Given the description of an element on the screen output the (x, y) to click on. 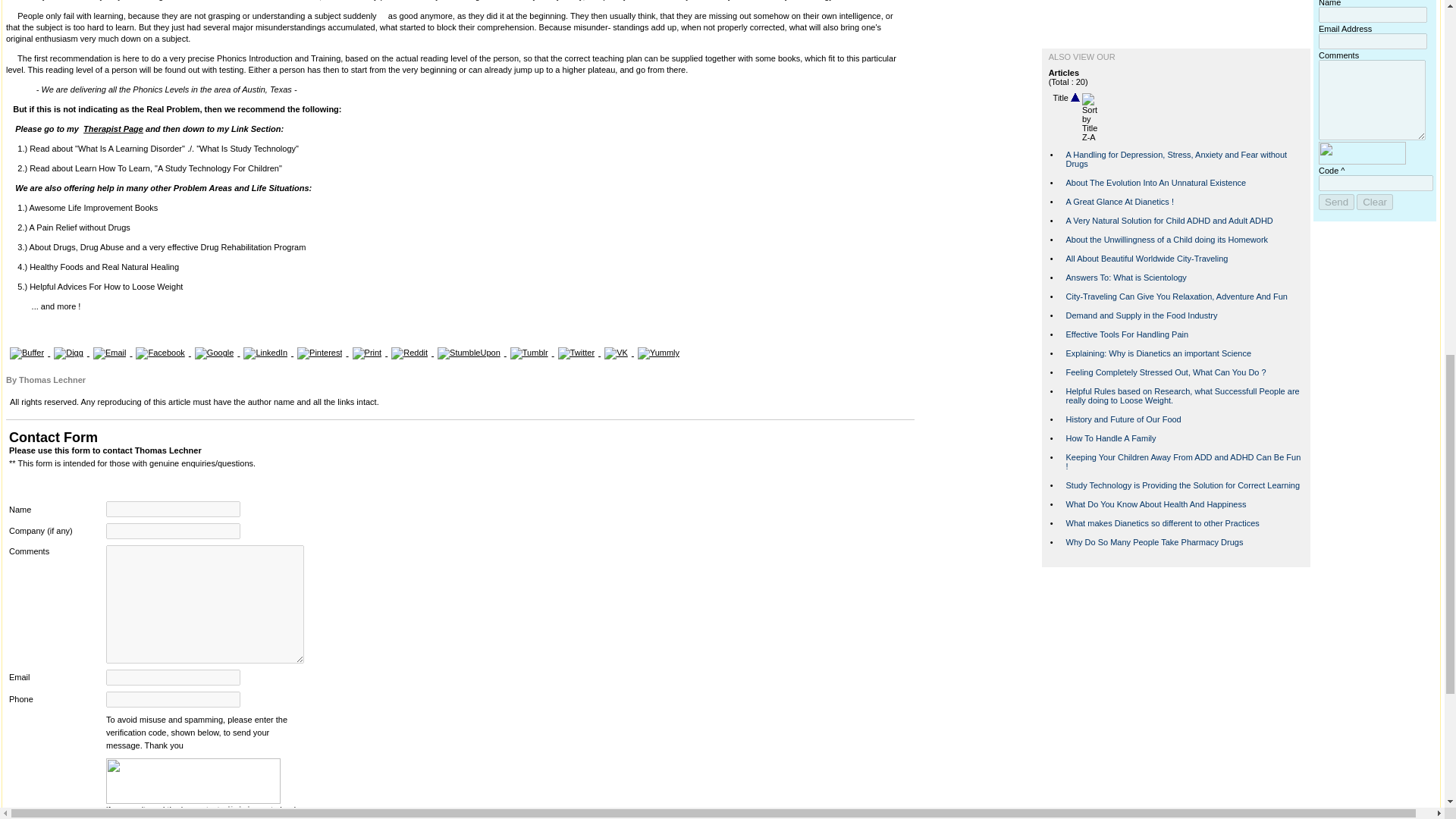
Clear (1374, 201)
A Great Glance At Dianetics ! (1119, 201)
Send (1336, 201)
Send (1336, 201)
Therapist Page (112, 128)
About The Evolution Into An Unnatural Existence (1155, 182)
click here (245, 808)
Sort by Title A-Z (1075, 97)
